Given the description of an element on the screen output the (x, y) to click on. 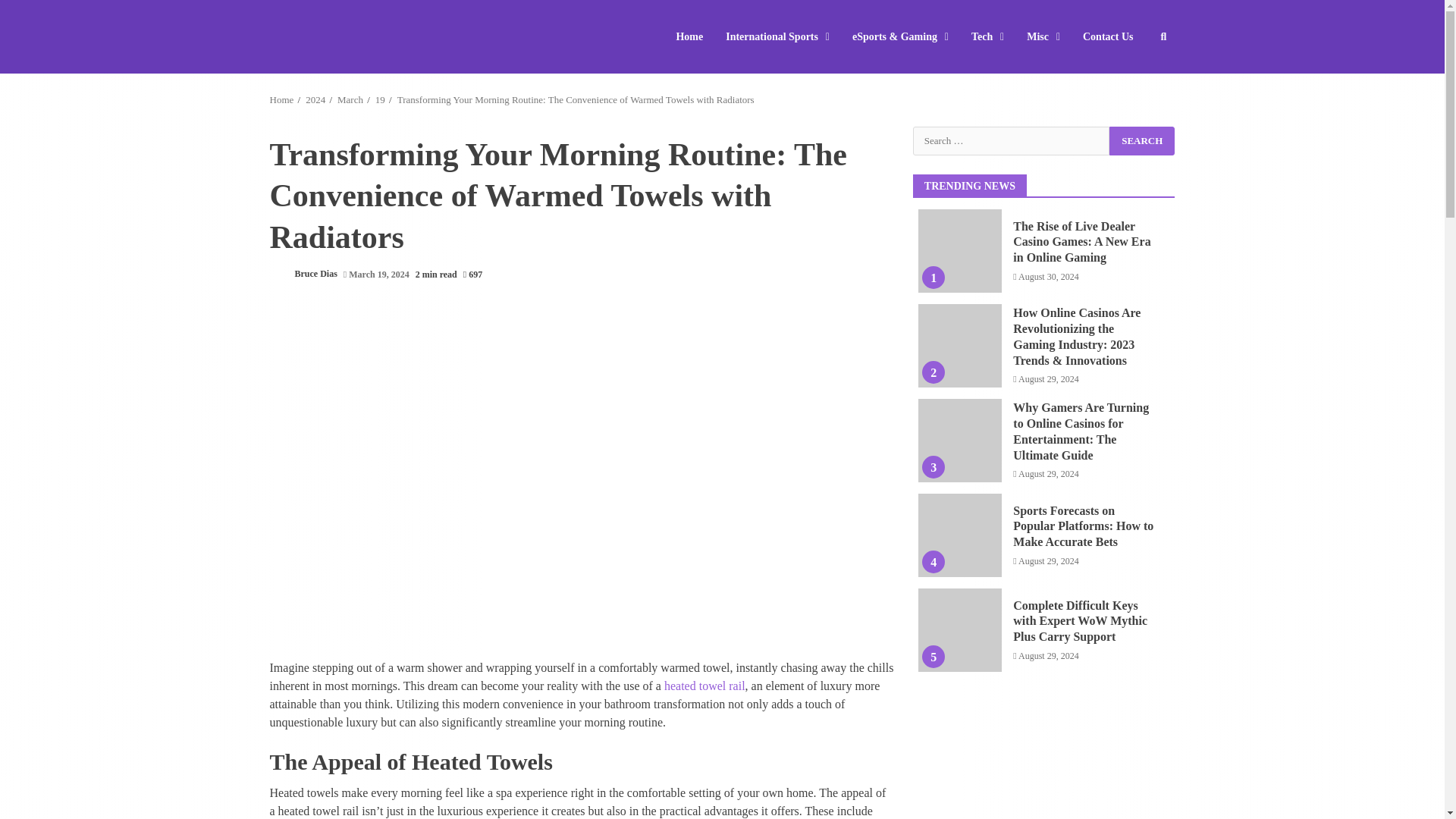
March (349, 99)
Search (1135, 82)
International Sports (777, 36)
Search (1141, 140)
Contact Us (1102, 36)
2024 (314, 99)
697 (472, 274)
Bruce Dias (303, 274)
Search (1141, 140)
Home (694, 36)
